Given the description of an element on the screen output the (x, y) to click on. 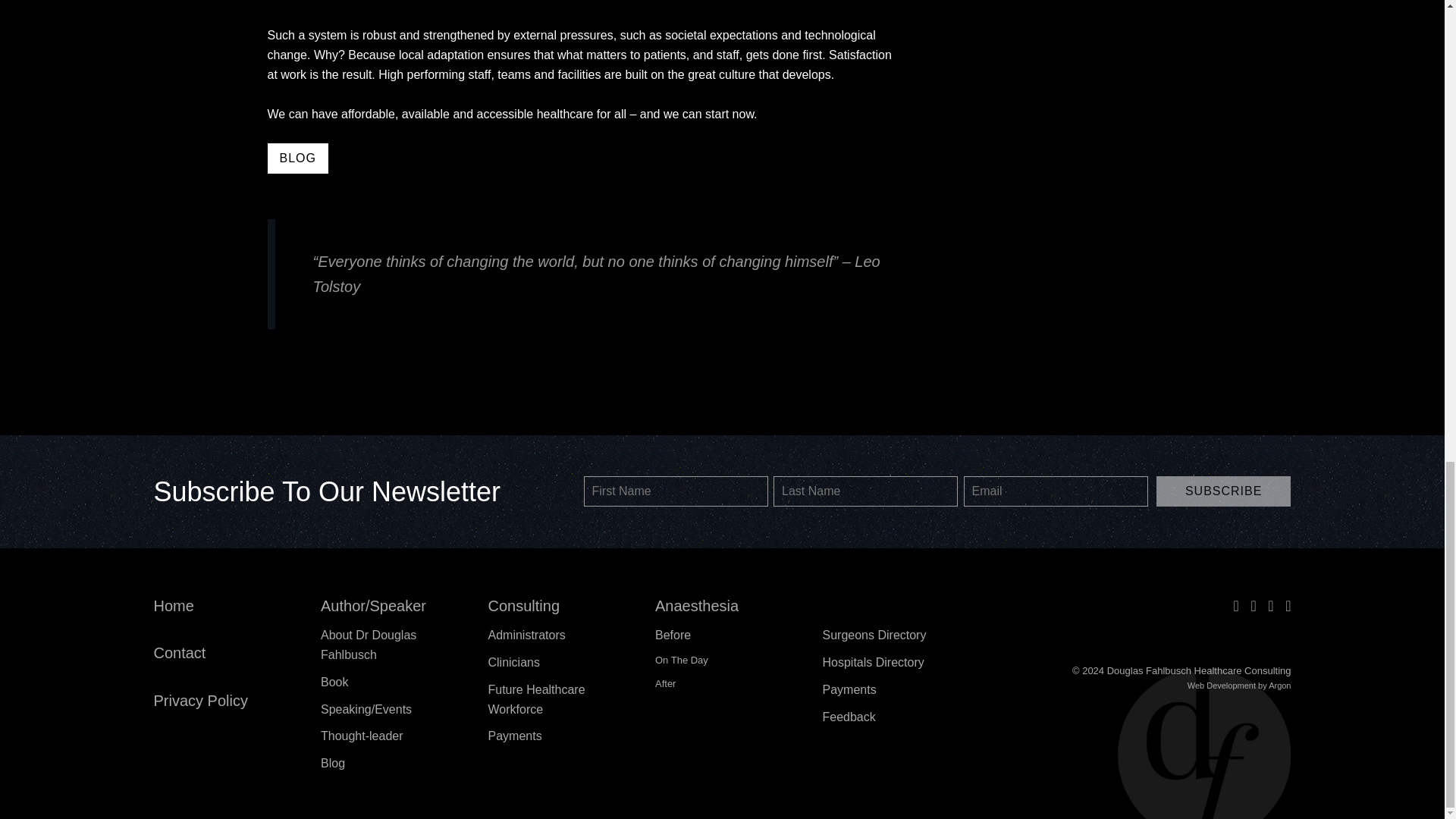
Privacy Policy (199, 700)
Home (172, 605)
Subscribe (1223, 490)
Subscribe (1223, 490)
BLOG (296, 158)
Contact (178, 652)
